Given the description of an element on the screen output the (x, y) to click on. 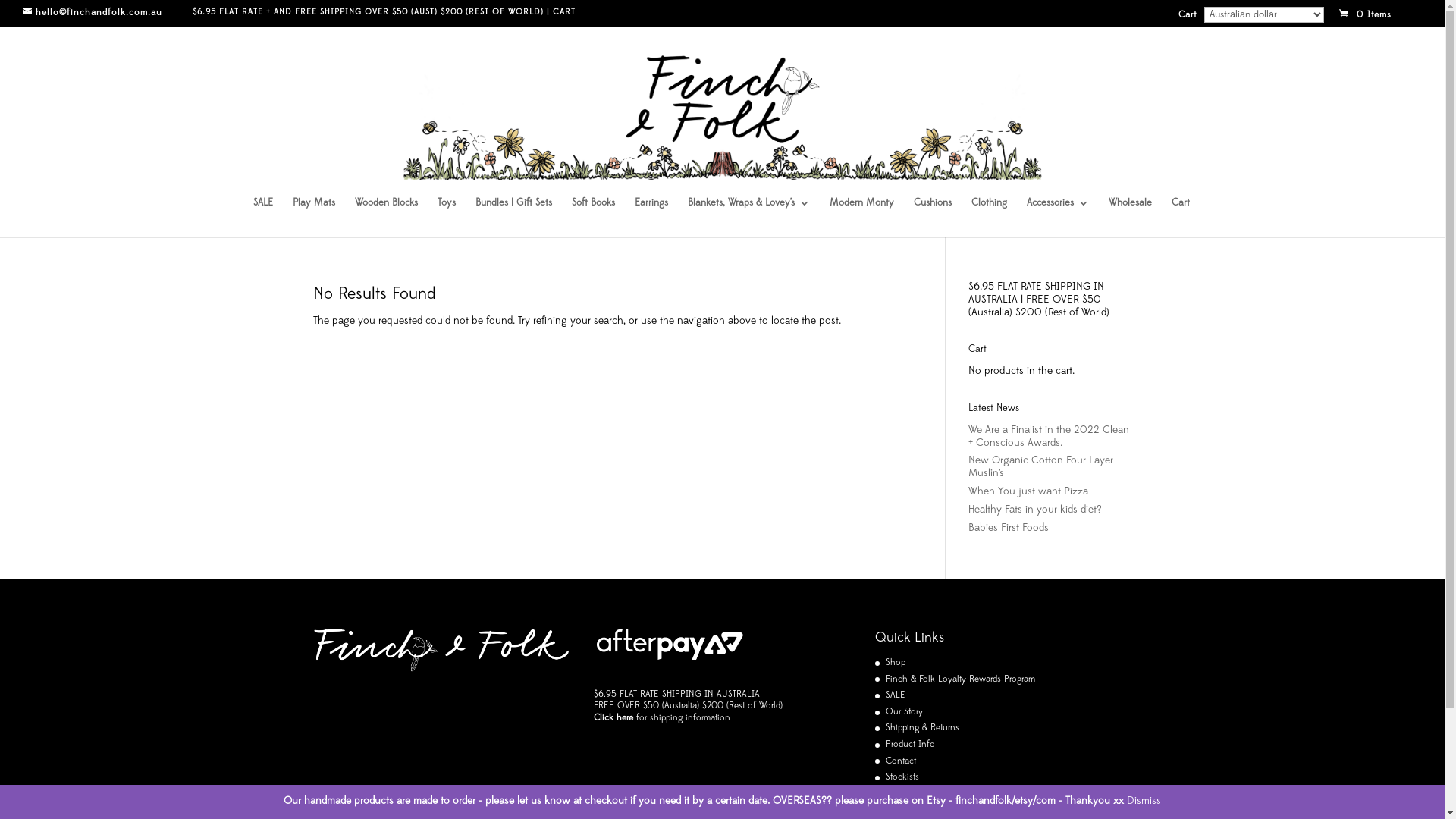
Bundles | Gift Sets Element type: text (513, 217)
Contact Element type: text (900, 760)
Earrings Element type: text (651, 217)
Click here Element type: text (613, 717)
Accessories Element type: text (1057, 217)
hello@finchandfolk.com.au Element type: text (107, 12)
Wooden Blocks Element type: text (385, 217)
Dismiss Element type: text (1143, 800)
Wholesale Element type: text (1129, 217)
We Are a Finalist in the 2022 Clean + Conscious Awards. Element type: text (1048, 436)
Babies First Foods Element type: text (1008, 527)
Our Story Element type: text (903, 711)
0 Items Element type: text (1378, 14)
Clothing Element type: text (989, 217)
Soft Books Element type: text (593, 217)
Finch & Folk Loyalty Rewards Program Element type: text (960, 679)
My Account Element type: text (909, 793)
Cart Element type: text (1187, 18)
Stockists Element type: text (902, 776)
Healthy Fats in your kids diet? Element type: text (1034, 509)
Modern Monty Element type: text (861, 217)
CART Element type: text (563, 12)
Shipping & Returns Element type: text (922, 727)
Play Mats Element type: text (313, 217)
Cart Element type: text (1180, 217)
SALE Element type: text (895, 694)
When You just want Pizza Element type: text (1028, 491)
Product Info Element type: text (910, 744)
Toys Element type: text (446, 217)
Shop Element type: text (895, 662)
Cushions Element type: text (932, 217)
SALE Element type: text (263, 217)
